Given the description of an element on the screen output the (x, y) to click on. 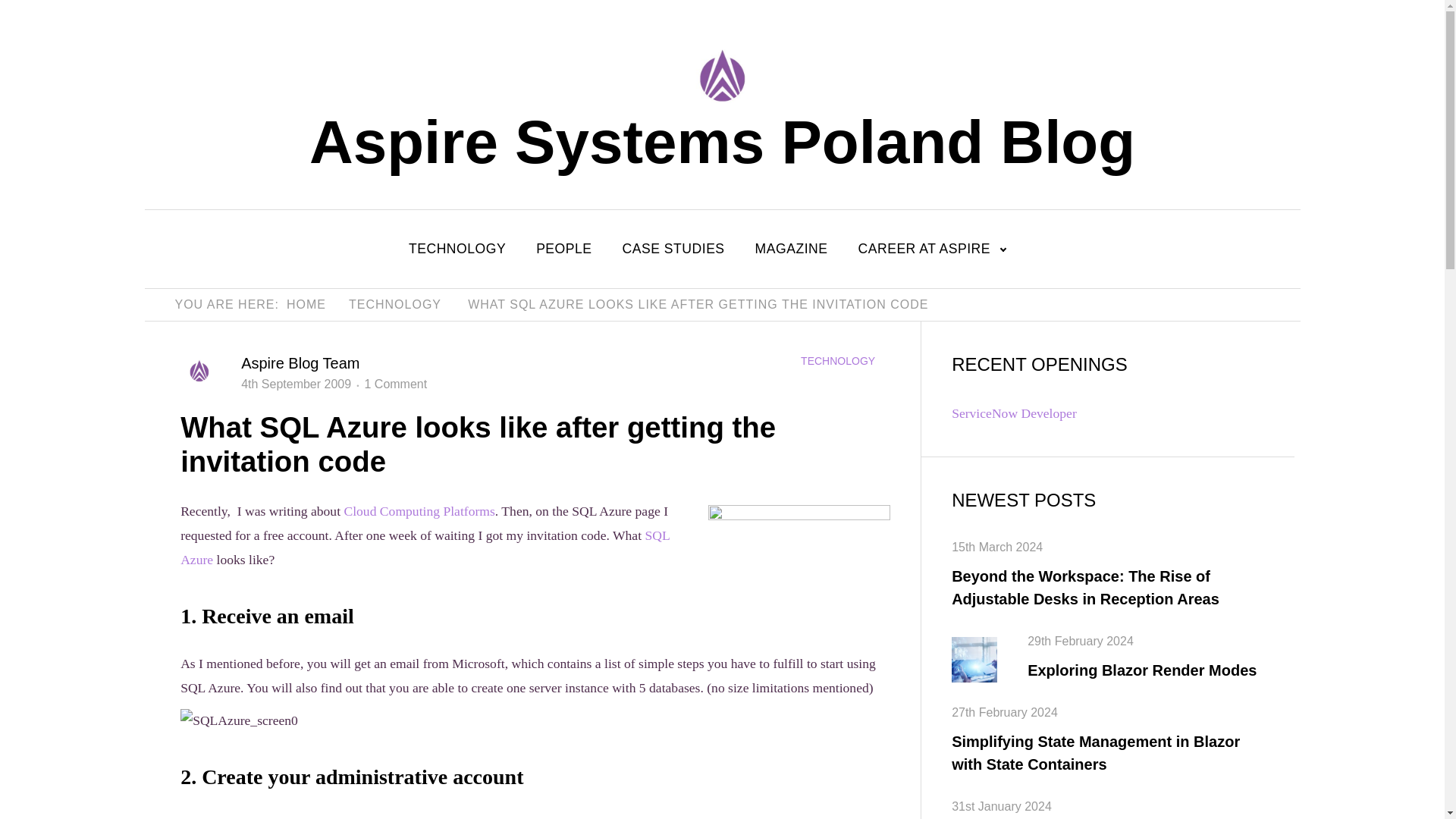
HOME (306, 304)
ServiceNow Developer (1014, 412)
15th March 2024 (997, 546)
TECHNOLOGY (395, 304)
Search (1258, 253)
SQL Azure (424, 547)
TECHNOLOGY (837, 361)
Cloud Computing Platforms (419, 510)
CASE STUDIES (674, 248)
TECHNOLOGY (457, 248)
CAREER AT ASPIRE (925, 248)
MAGAZINE (791, 248)
Aspire Systems Poland Blog (721, 142)
